Given the description of an element on the screen output the (x, y) to click on. 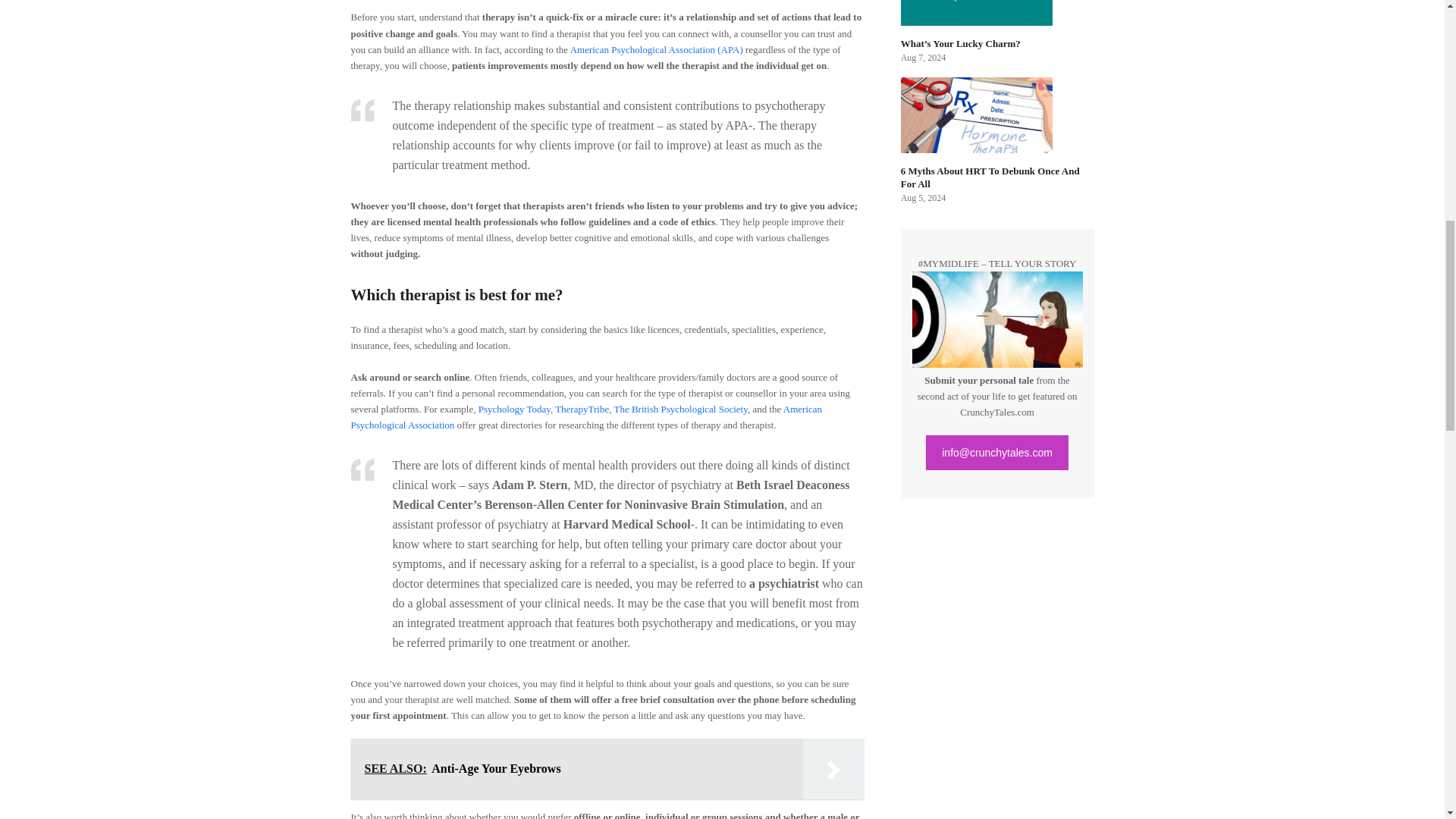
Psychology Today (514, 408)
American Psychological Association (586, 416)
TherapyTribe (581, 408)
SEE ALSO:  Anti-Age Your Eyebrows (606, 768)
The British Psychological Society (679, 408)
